Given the description of an element on the screen output the (x, y) to click on. 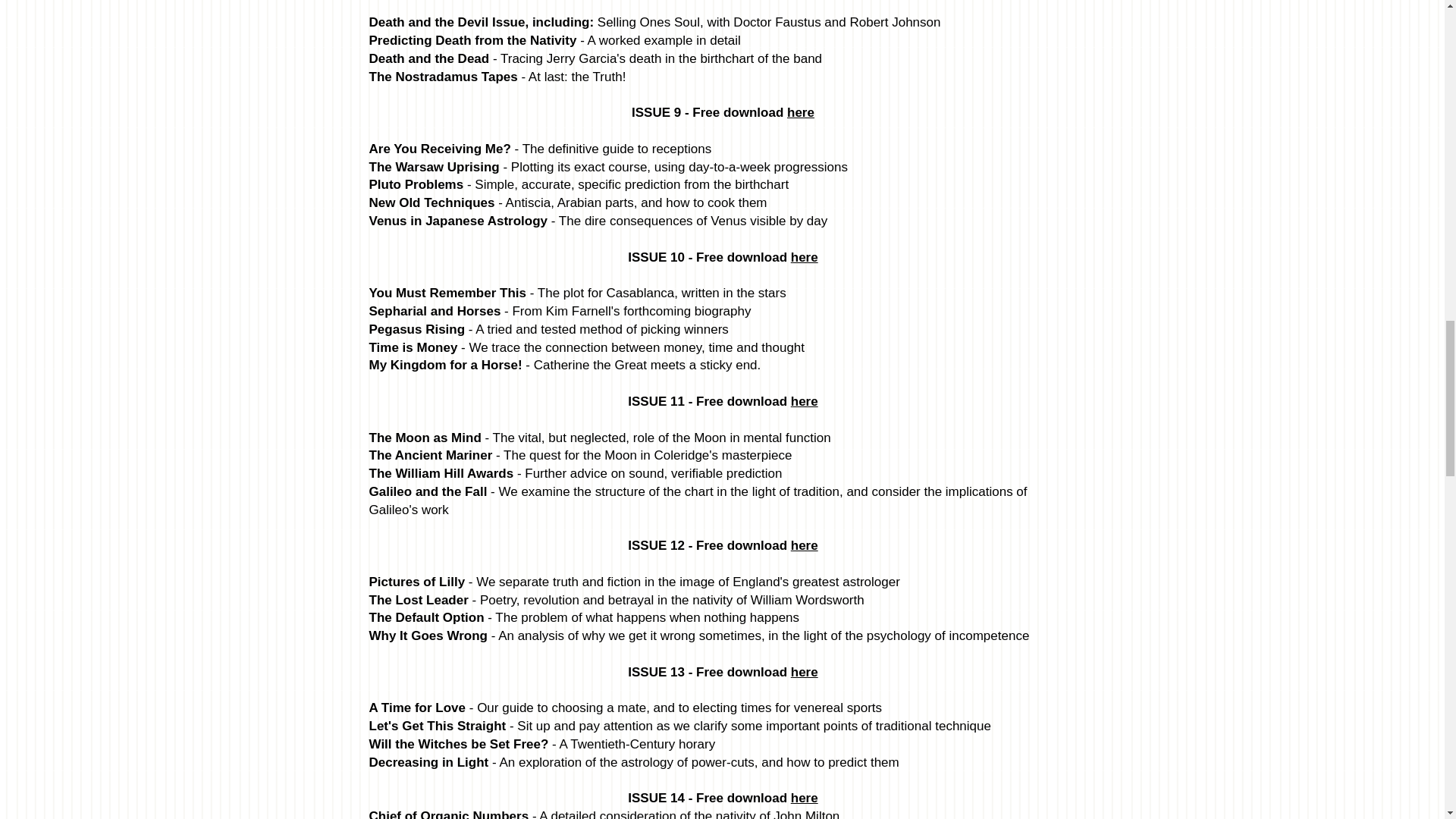
here (804, 798)
here (800, 112)
here (804, 400)
here (804, 257)
here (804, 545)
here (804, 672)
